Given the description of an element on the screen output the (x, y) to click on. 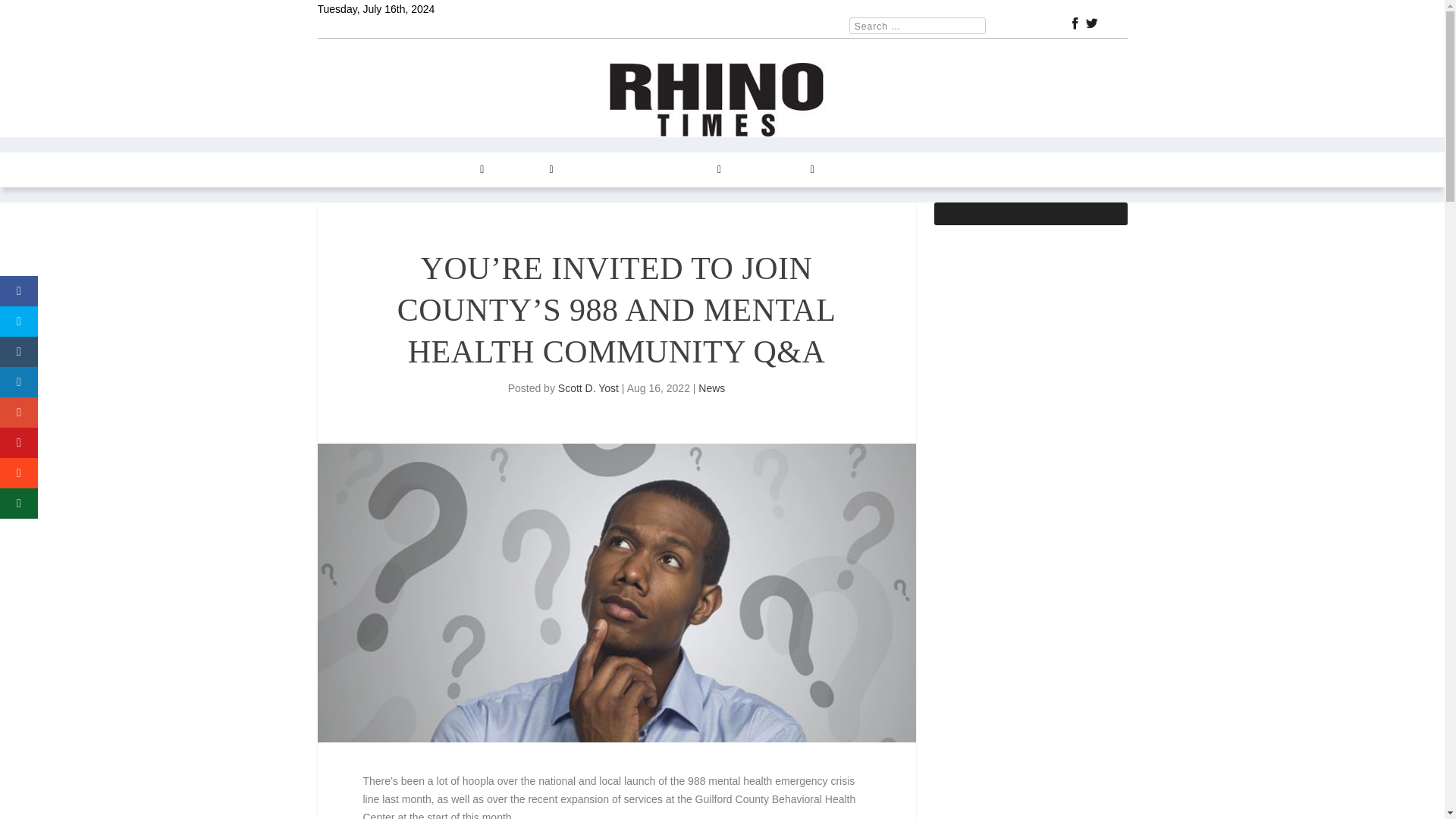
Posts by Scott D. Yost (587, 387)
REAL ESTATE (606, 169)
NEWS (390, 169)
ARCHIVES (689, 169)
HOME (342, 169)
COLUMNS (453, 169)
Search (31, 13)
OBITUARIES (935, 169)
ABOUT US (858, 169)
OPINION (526, 169)
CONTACT US (775, 169)
